Given the description of an element on the screen output the (x, y) to click on. 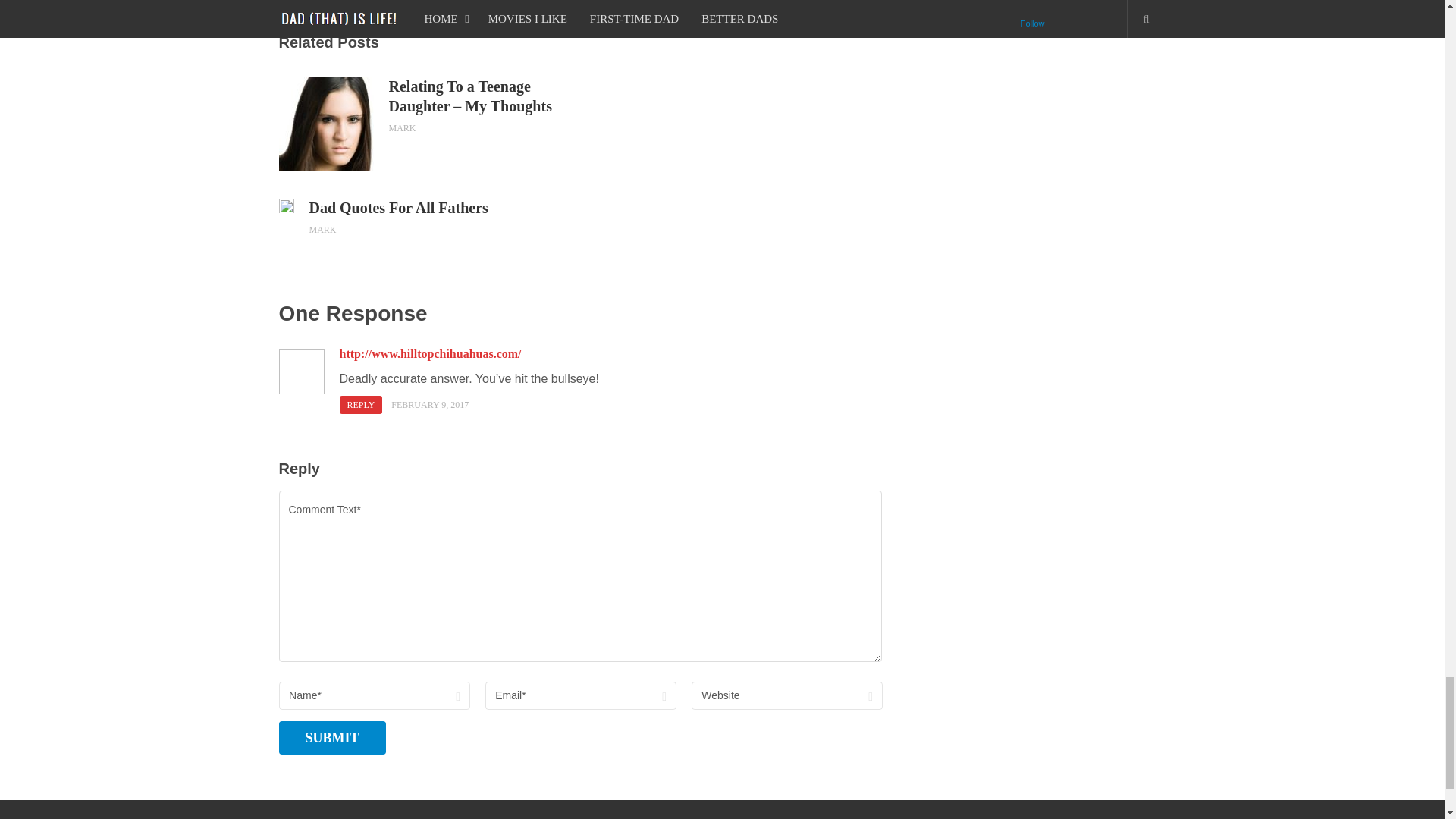
Submit (332, 737)
MARK (401, 127)
Dad Quotes For All Fathers (445, 207)
